Given the description of an element on the screen output the (x, y) to click on. 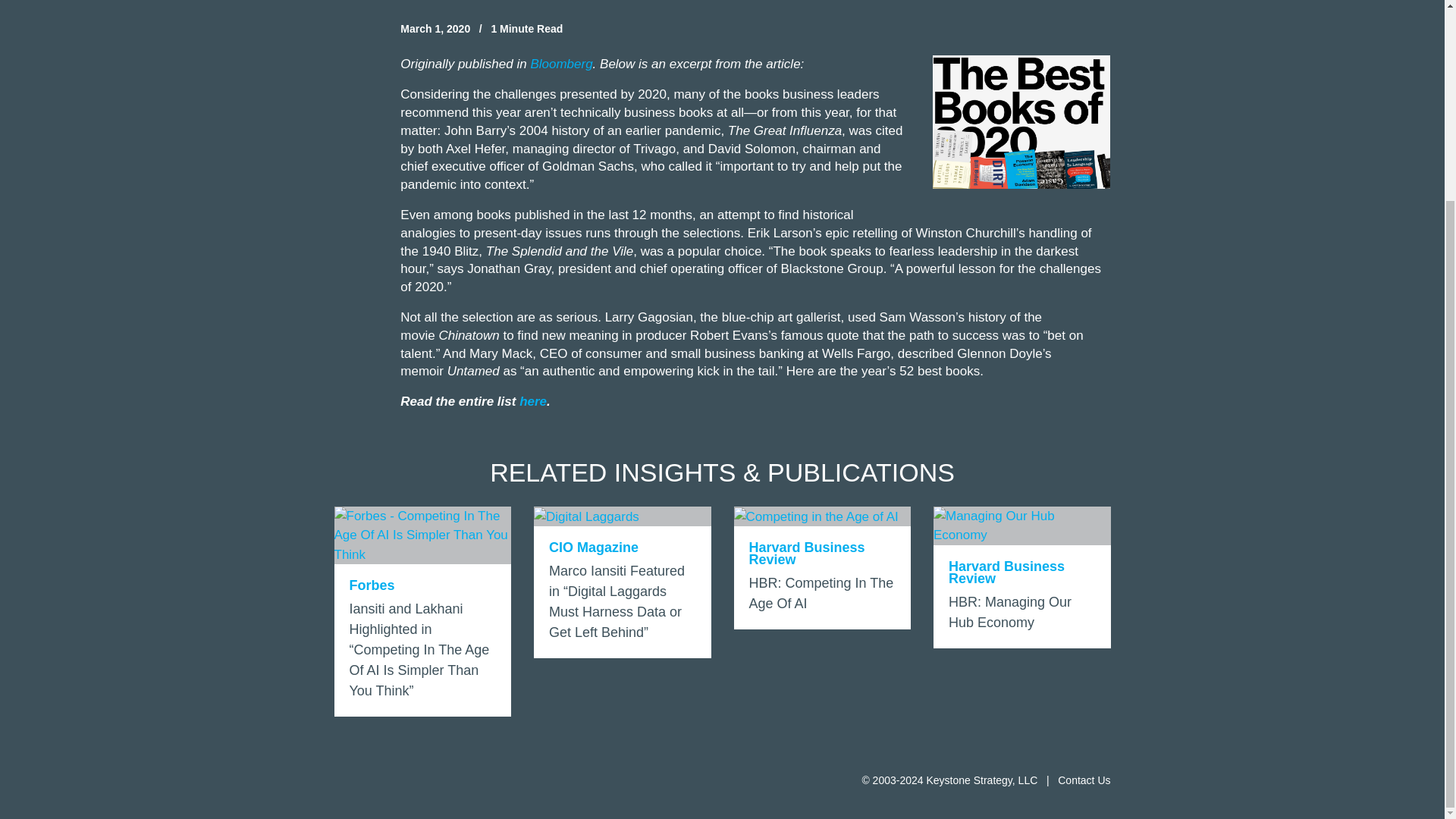
David Solomon (750, 148)
Larry Gagosian (649, 317)
Mary Mack (500, 353)
HBR: Competing In The Age Of AI (822, 567)
Jonathan Gray (508, 268)
here (533, 400)
HBR: Managing Our Hub Economy (1021, 577)
Axel Hefer (475, 148)
Bloomberg (1021, 577)
